Given the description of an element on the screen output the (x, y) to click on. 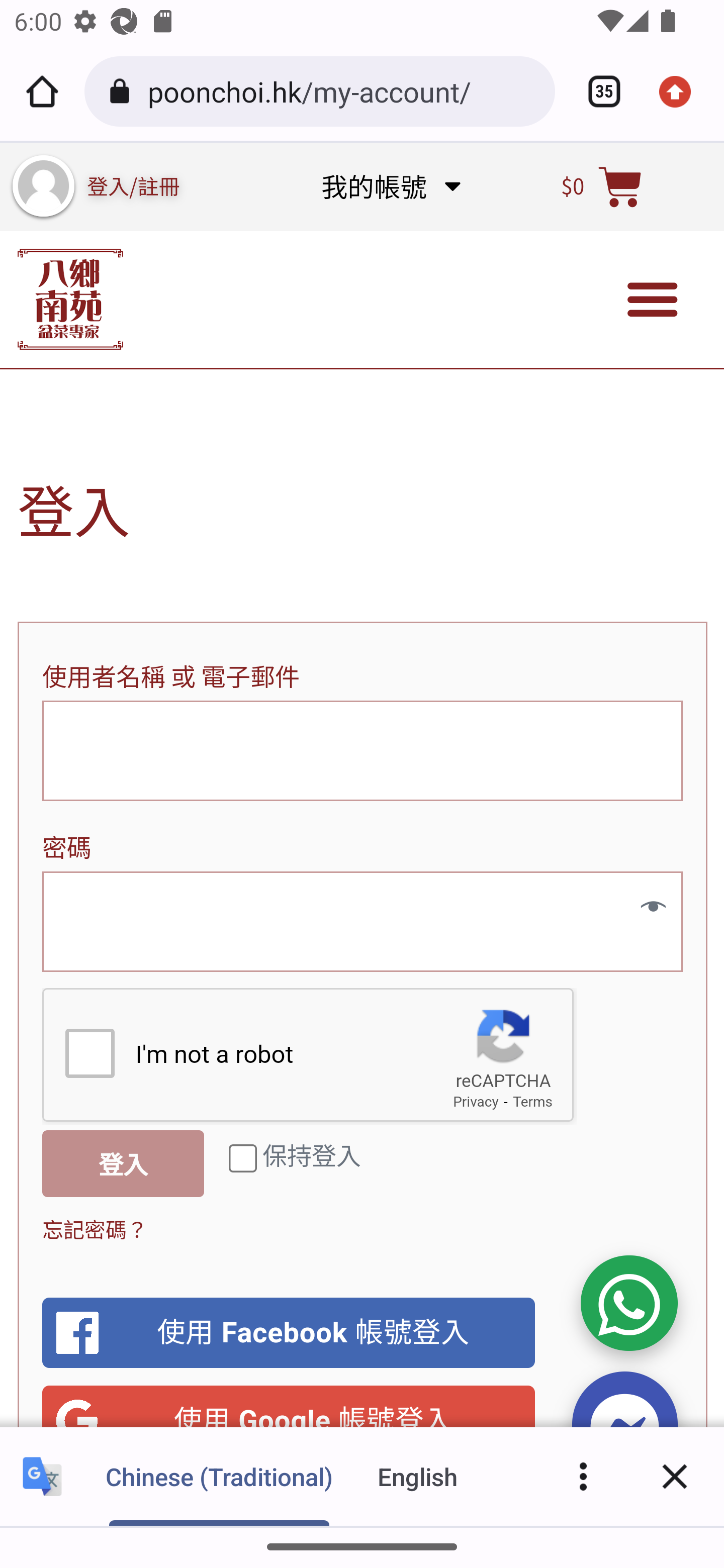
Home (42, 91)
Connection is secure (122, 91)
Switch or close tabs (597, 91)
Update available. More options (681, 91)
poonchoi.hk/my-account/ (343, 90)
$0  購物籃 $ 0  (601, 186)
我的帳號  我的帳號  (390, 185)
my-account (43, 186)
登入/註冊 (133, 185)
www.poonchoi (70, 299)
選單切換 (652, 299)
 (645, 906)
I'm not a robot (89, 1052)
Privacy (475, 1101)
Terms (533, 1101)
登入 (123, 1162)
忘記密碼？ (95, 1228)
使用 <b>Facebook</b> 帳號登入 使用 Facebook 帳號登入 (288, 1332)
English (417, 1475)
More options (582, 1475)
Close (674, 1475)
